Given the description of an element on the screen output the (x, y) to click on. 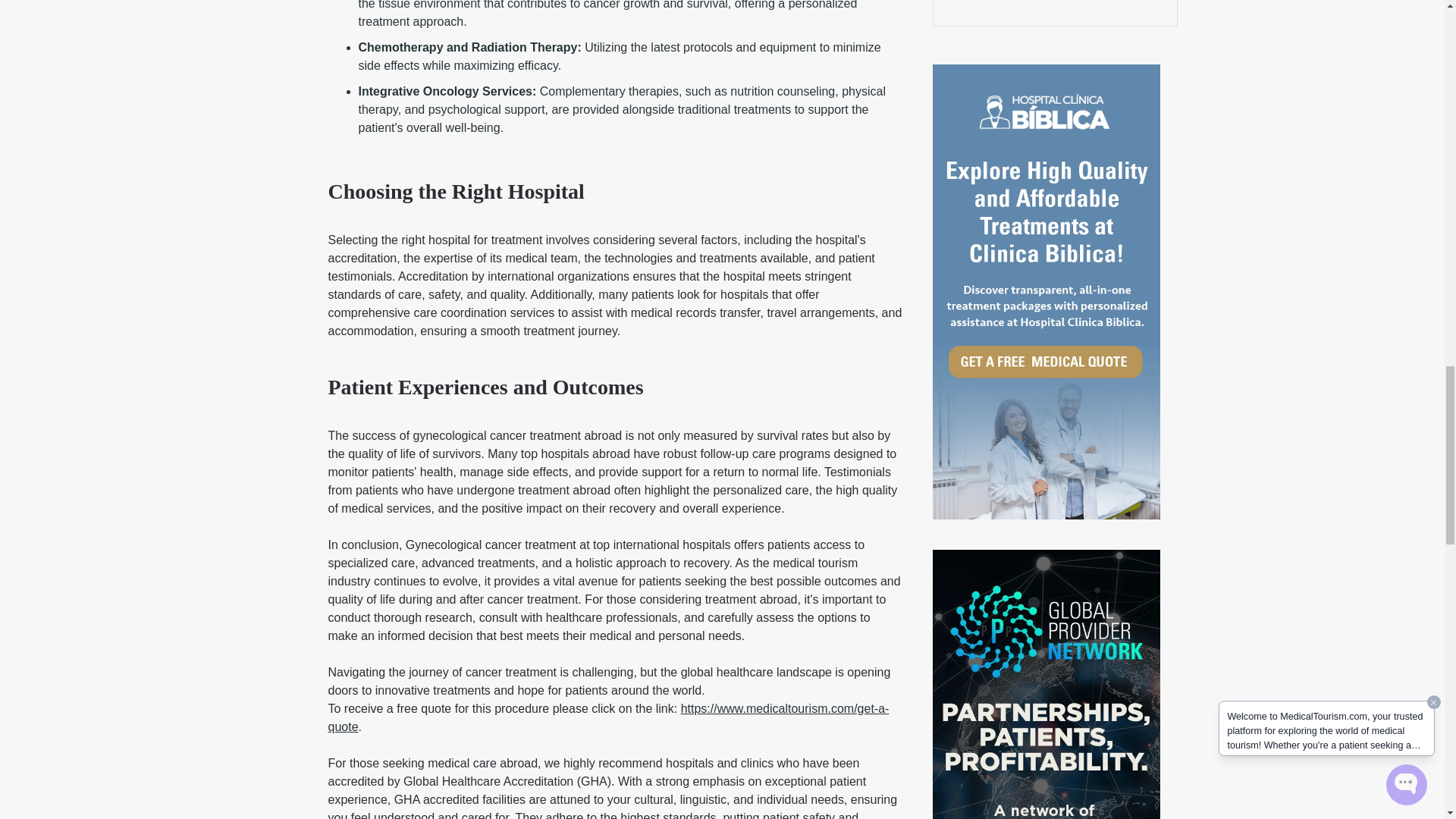
3rd party ad content (1053, 9)
